Given the description of an element on the screen output the (x, y) to click on. 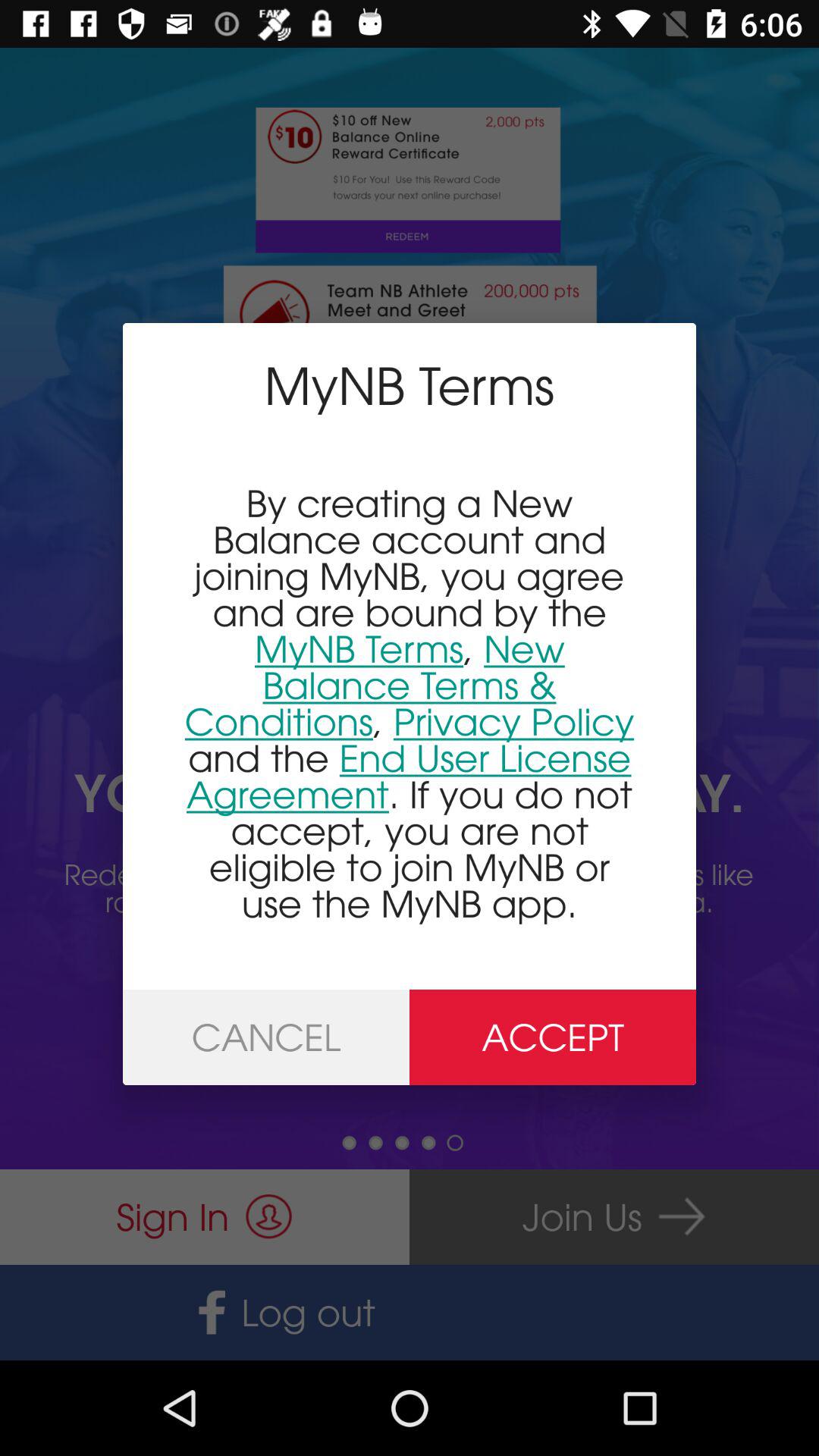
jump to accept icon (552, 1037)
